Given the description of an element on the screen output the (x, y) to click on. 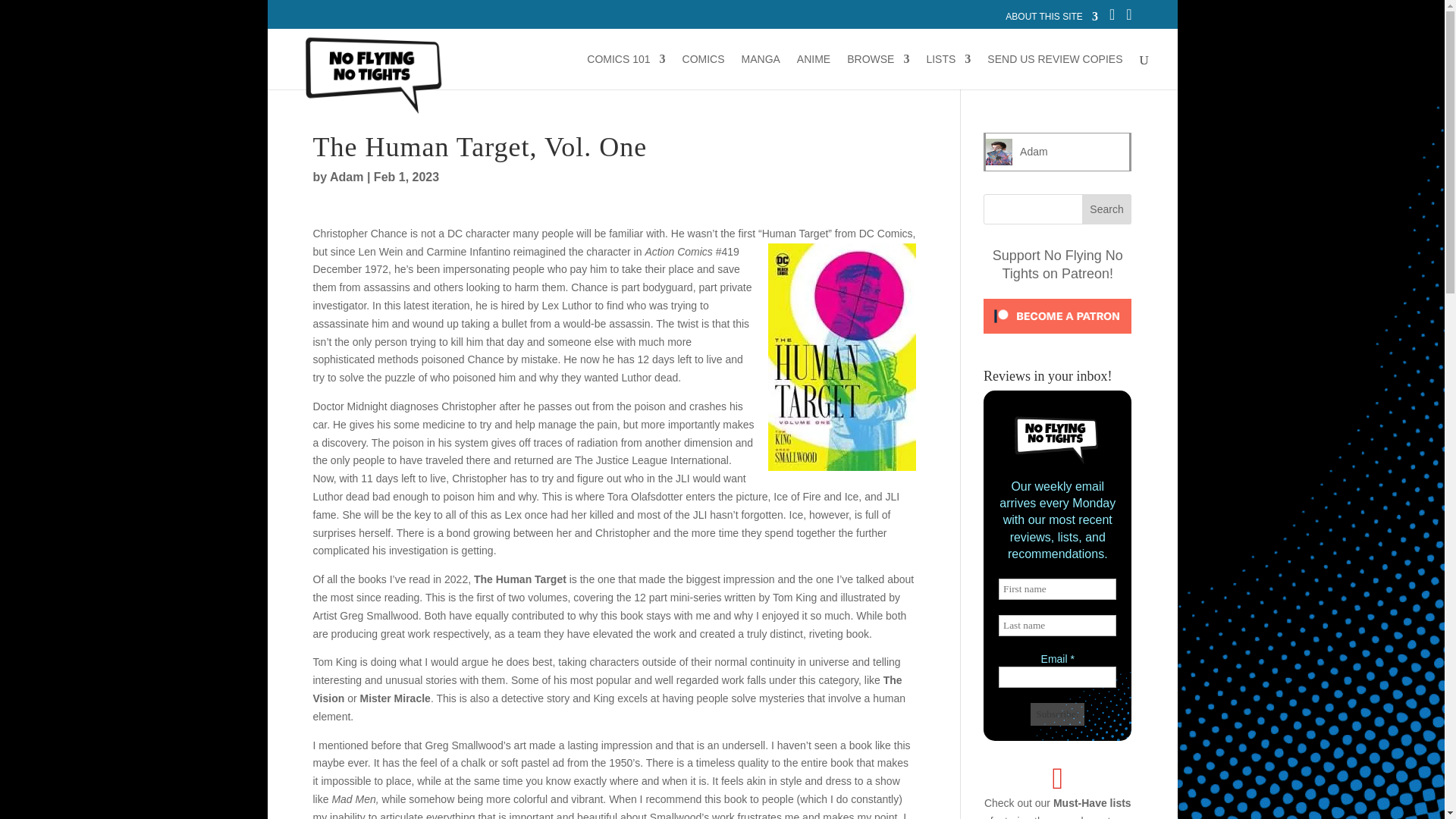
ABOUT THIS SITE (1051, 19)
COMICS 101 (625, 71)
ANIME (812, 71)
Last name (1057, 625)
LISTS (948, 71)
SEND US REVIEW COPIES (1054, 71)
Posts by Adam (346, 176)
MANGA (760, 71)
Email (1057, 676)
BROWSE (877, 71)
